Given the description of an element on the screen output the (x, y) to click on. 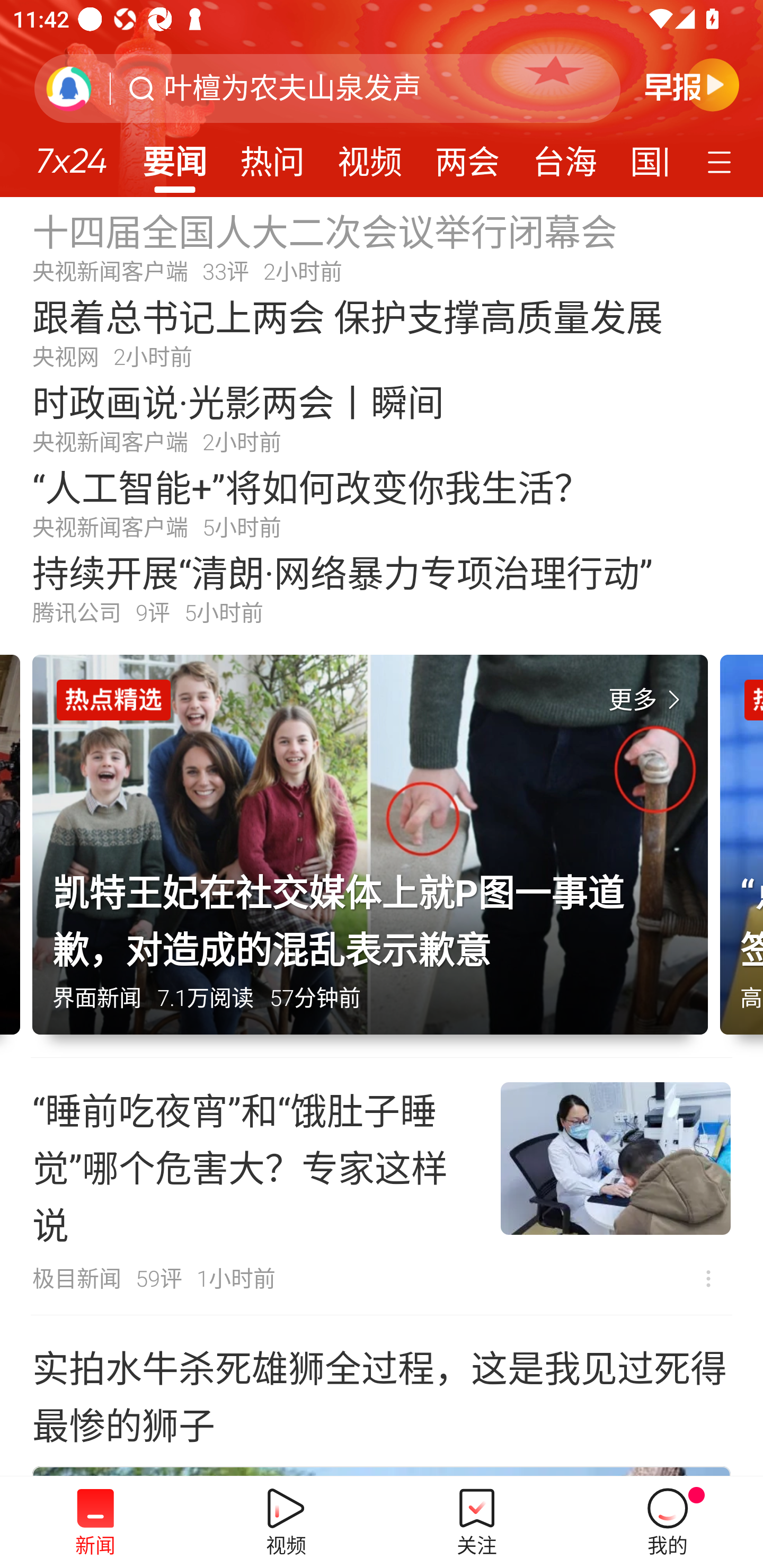
早晚报 (691, 84)
刷新 (68, 88)
叶檀为农夫山泉发声 (292, 88)
7x24 (70, 154)
要闻 (174, 155)
热问 (272, 155)
视频 (369, 155)
两会 (466, 155)
台海 (564, 155)
 定制频道 (721, 160)
十四届全国人大二次会议举行闭幕会 央视新闻客户端 33评 2小时前 (381, 245)
跟着总书记上两会 保护支撑高质量发展 央视网 2小时前 (381, 331)
时政画说·光影两会丨瞬间 央视新闻客户端 2小时前 (381, 416)
“人工智能+”将如何改变你我生活？ 央视新闻客户端 5小时前 (381, 502)
持续开展“清朗·网络暴力专项治理行动” 腾讯公司 9评 5小时前 (381, 587)
更多  (648, 699)
“睡前吃夜宵”和“饿肚子睡觉”哪个危害大？专家这样说 极目新闻 59评 1小时前  不感兴趣 (381, 1186)
 不感兴趣 (707, 1278)
实拍水牛杀死雄狮全过程，这是我见过死得最惨的狮子 (381, 1394)
